Given the description of an element on the screen output the (x, y) to click on. 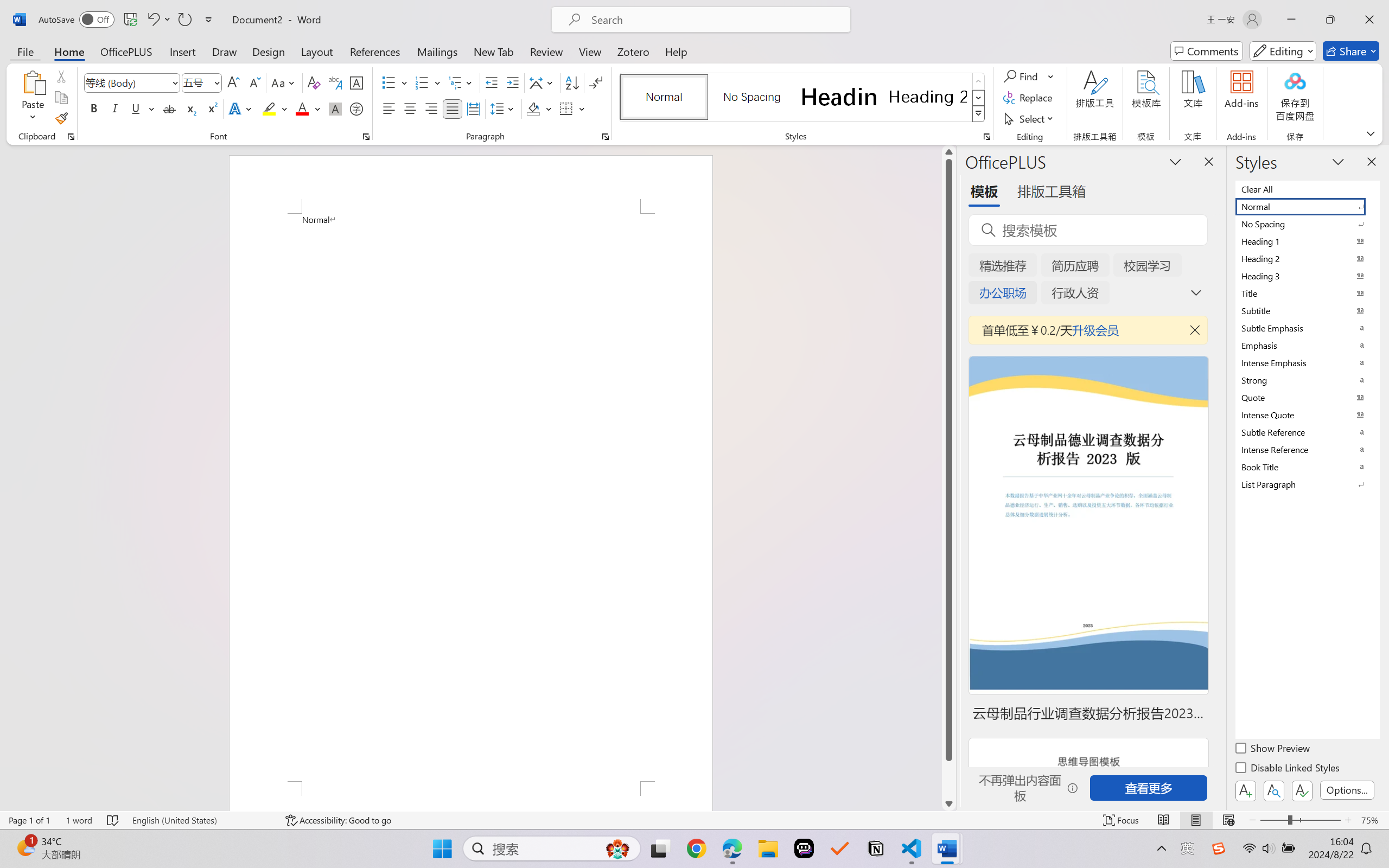
Page Number Page 1 of 1 (29, 819)
Italic (115, 108)
AutoSave (76, 19)
Borders (566, 108)
Text Highlight Color Yellow (269, 108)
View (589, 51)
Quick Access Toolbar (127, 19)
New Tab (493, 51)
OfficePLUS (126, 51)
Paste (33, 81)
